Given the description of an element on the screen output the (x, y) to click on. 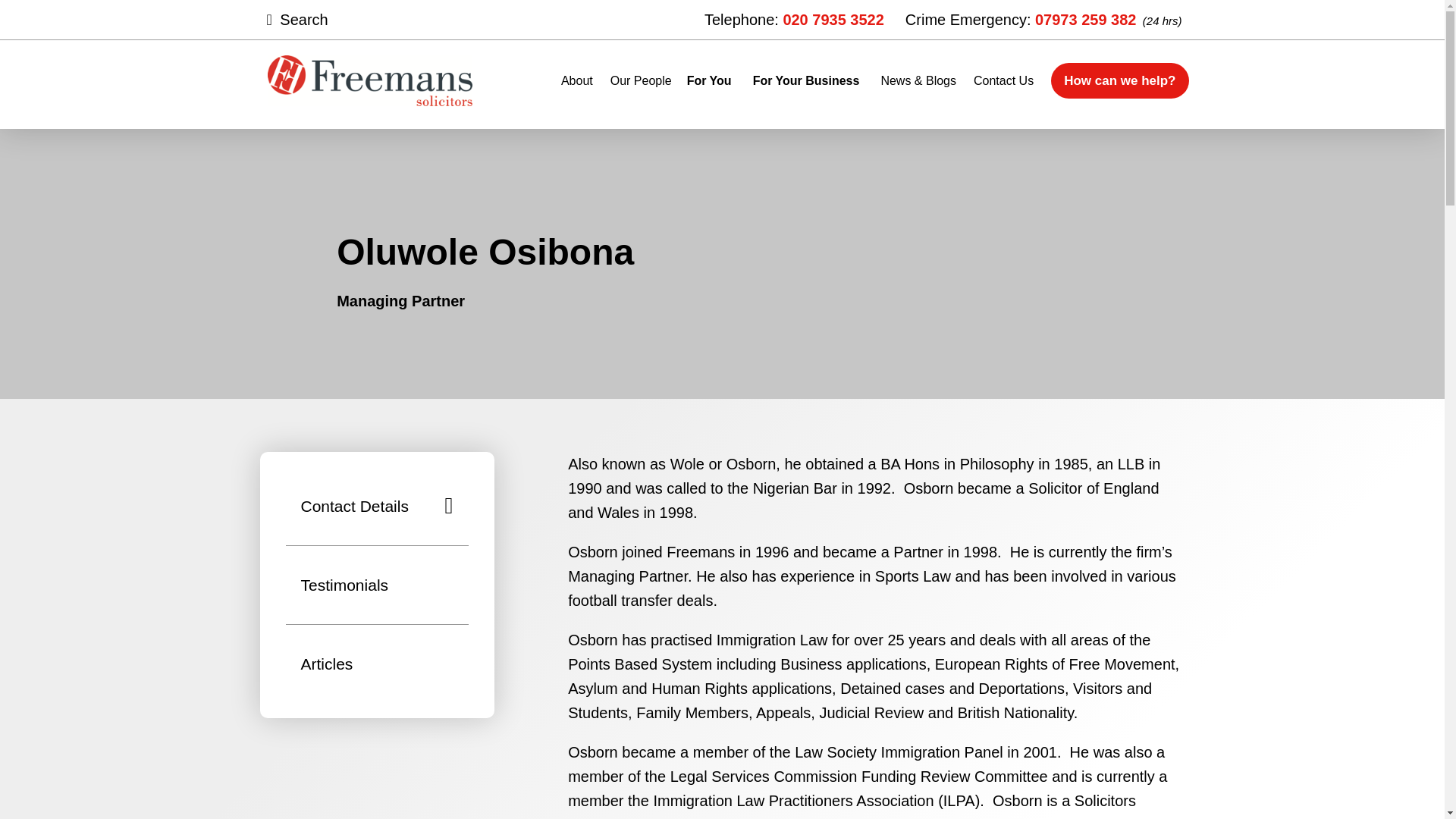
For Your Business (806, 80)
About (576, 80)
Our People (640, 80)
Telephone: 020 7935 3522 (793, 19)
Search (318, 19)
For You (709, 80)
